Given the description of an element on the screen output the (x, y) to click on. 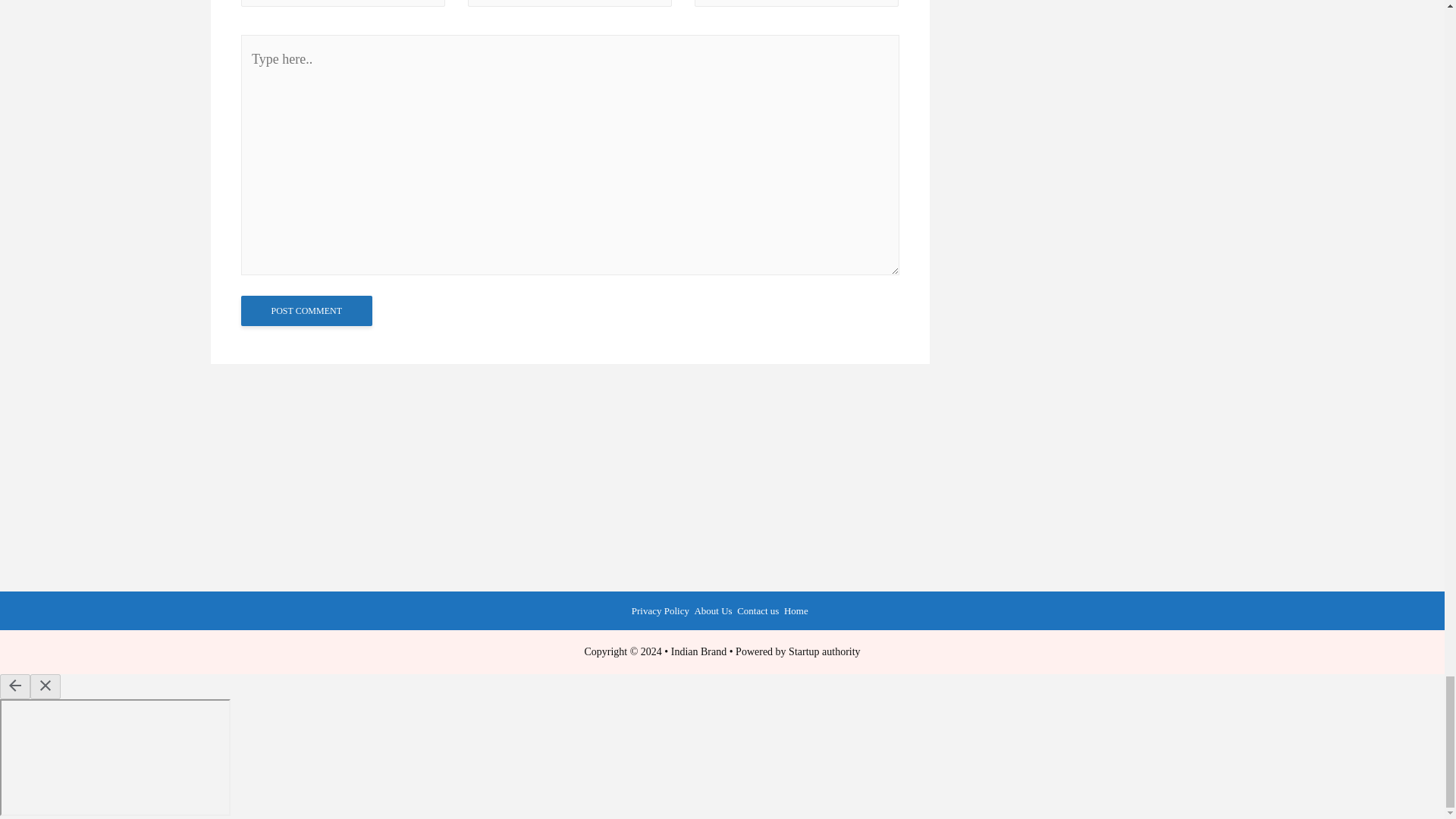
Post Comment (306, 310)
Post Comment (306, 310)
